Given the description of an element on the screen output the (x, y) to click on. 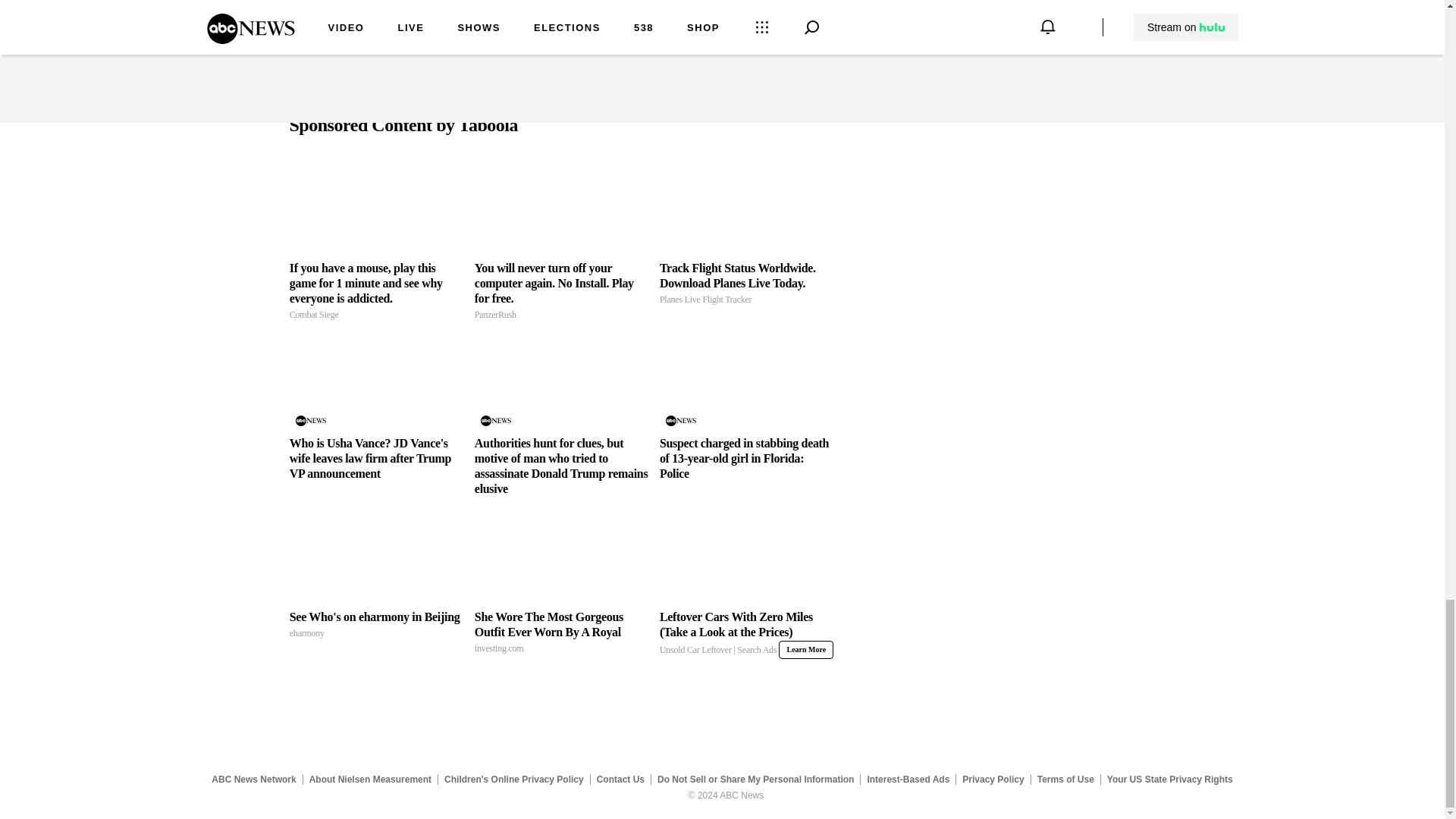
Track Flight Status Worldwide. Download Planes Live Today. (745, 284)
See Who's on eharmony in Beijing (376, 625)
